Given the description of an element on the screen output the (x, y) to click on. 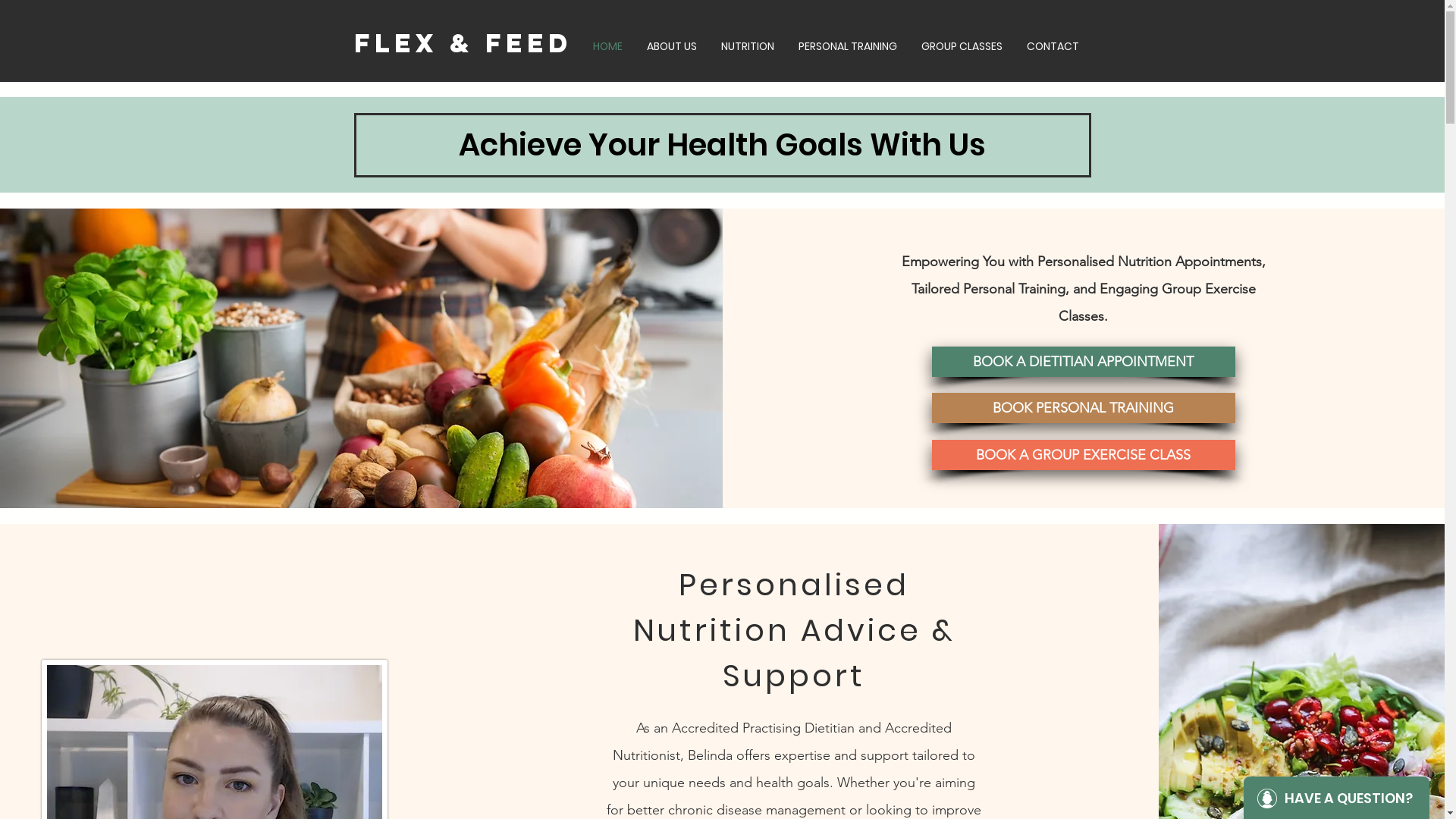
BOOK PERSONAL TRAINING Element type: text (1083, 407)
BOOK A DIETITIAN APPOINTMENT Element type: text (1083, 361)
HOME Element type: text (607, 46)
Flex & Feed Element type: text (462, 42)
BOOK A GROUP EXERCISE CLASS Element type: text (1083, 454)
CONTACT Element type: text (1052, 46)
